Given the description of an element on the screen output the (x, y) to click on. 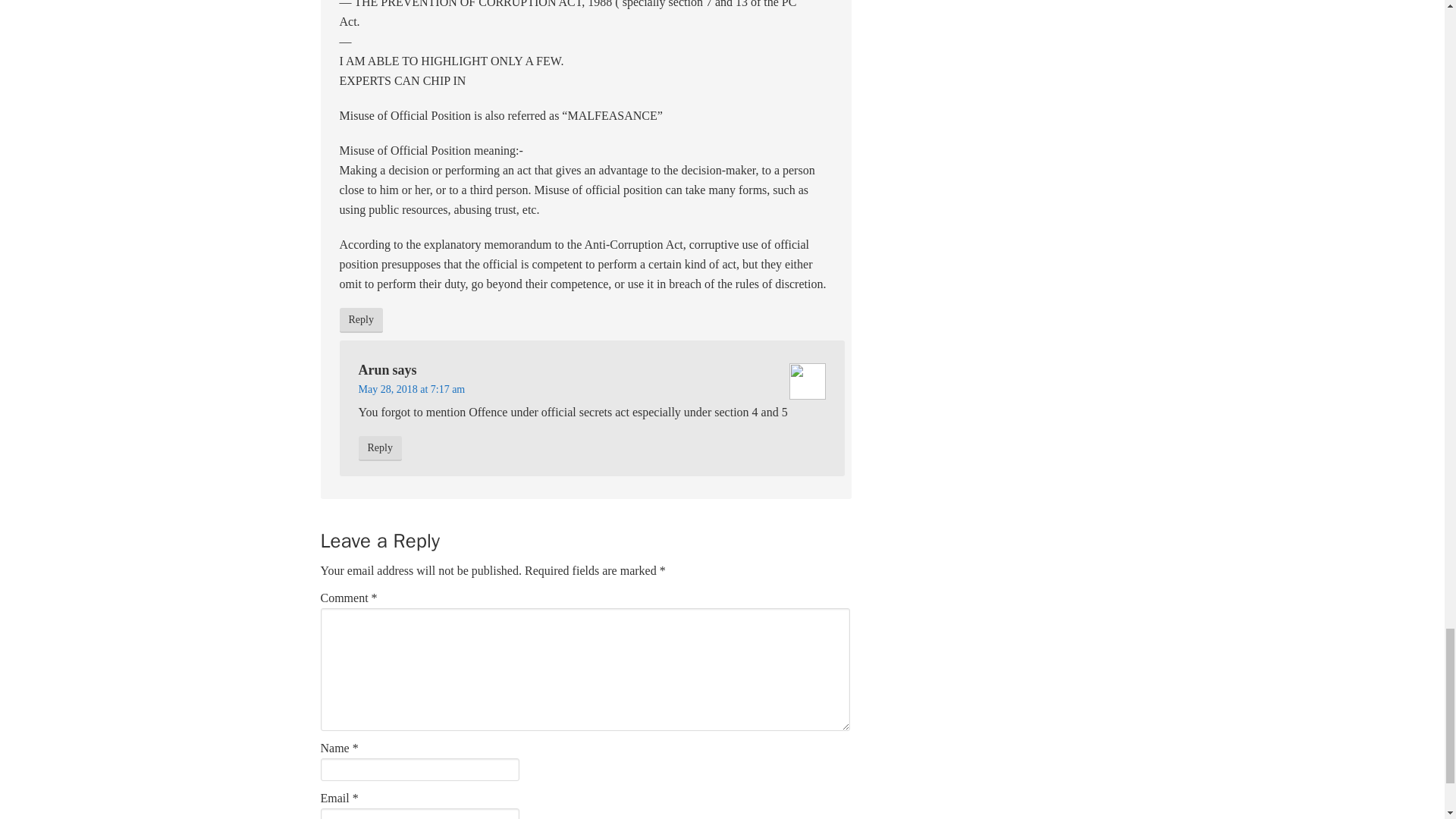
Reply (379, 448)
Reply (360, 319)
May 28, 2018 at 7:17 am (411, 389)
